Given the description of an element on the screen output the (x, y) to click on. 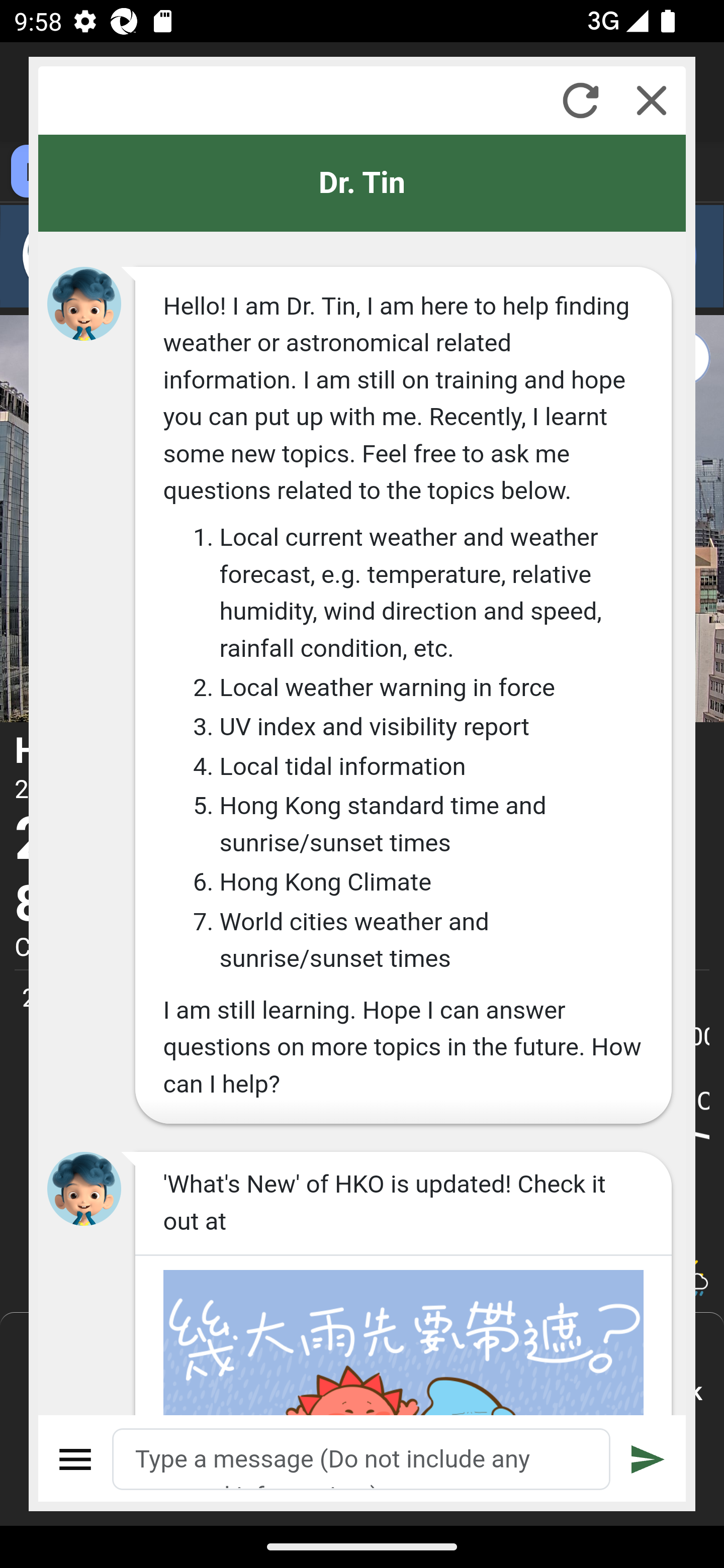
Refresh (580, 100)
Close (651, 100)
Menu (75, 1458)
Submit (648, 1458)
